Given the description of an element on the screen output the (x, y) to click on. 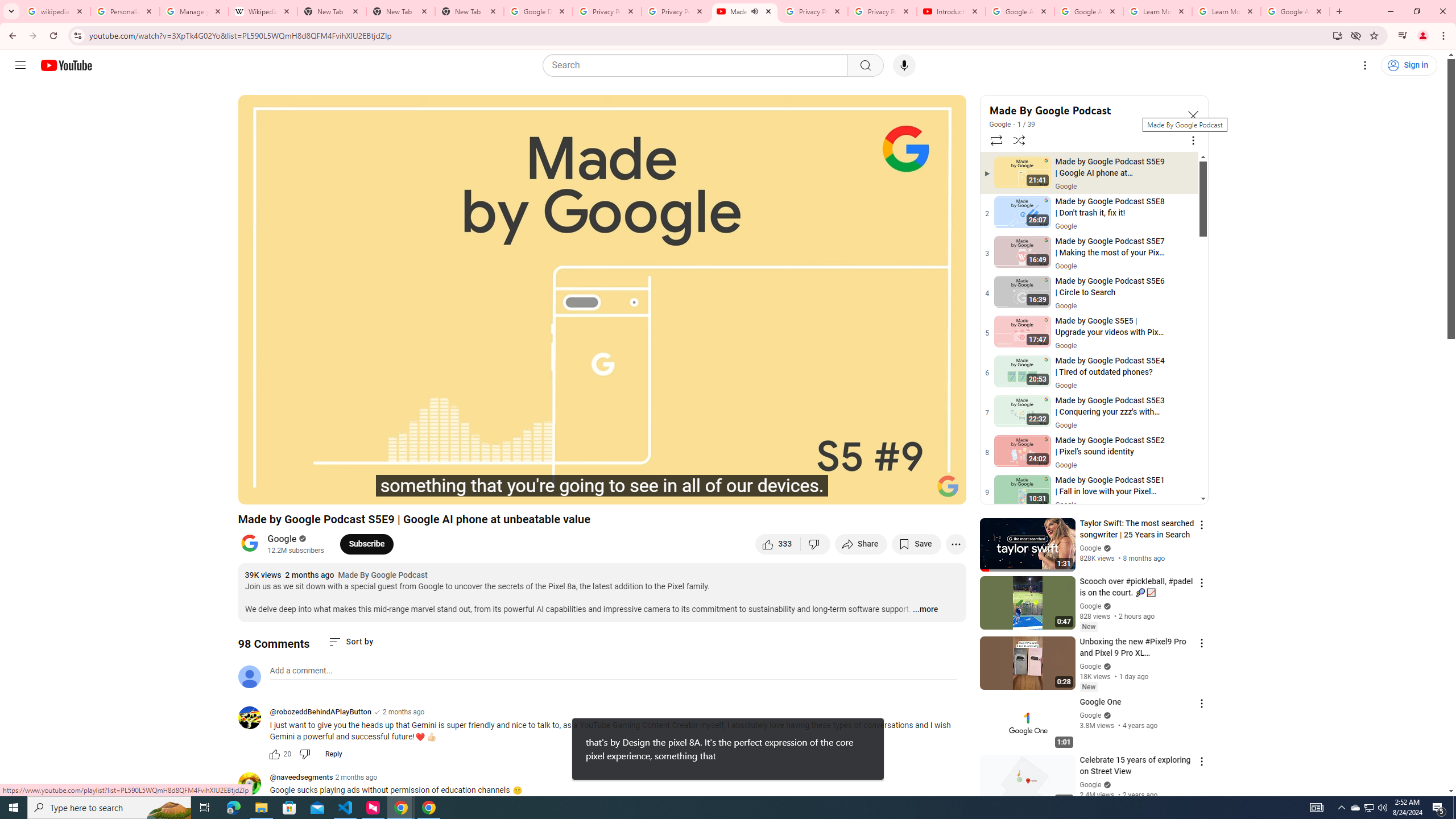
Search with your voice (903, 65)
Sort comments (350, 641)
...more (924, 609)
Shuffle playlist (1018, 140)
Miniplayer (i) (890, 490)
Like this comment along with 20 other people (273, 754)
